Given the description of an element on the screen output the (x, y) to click on. 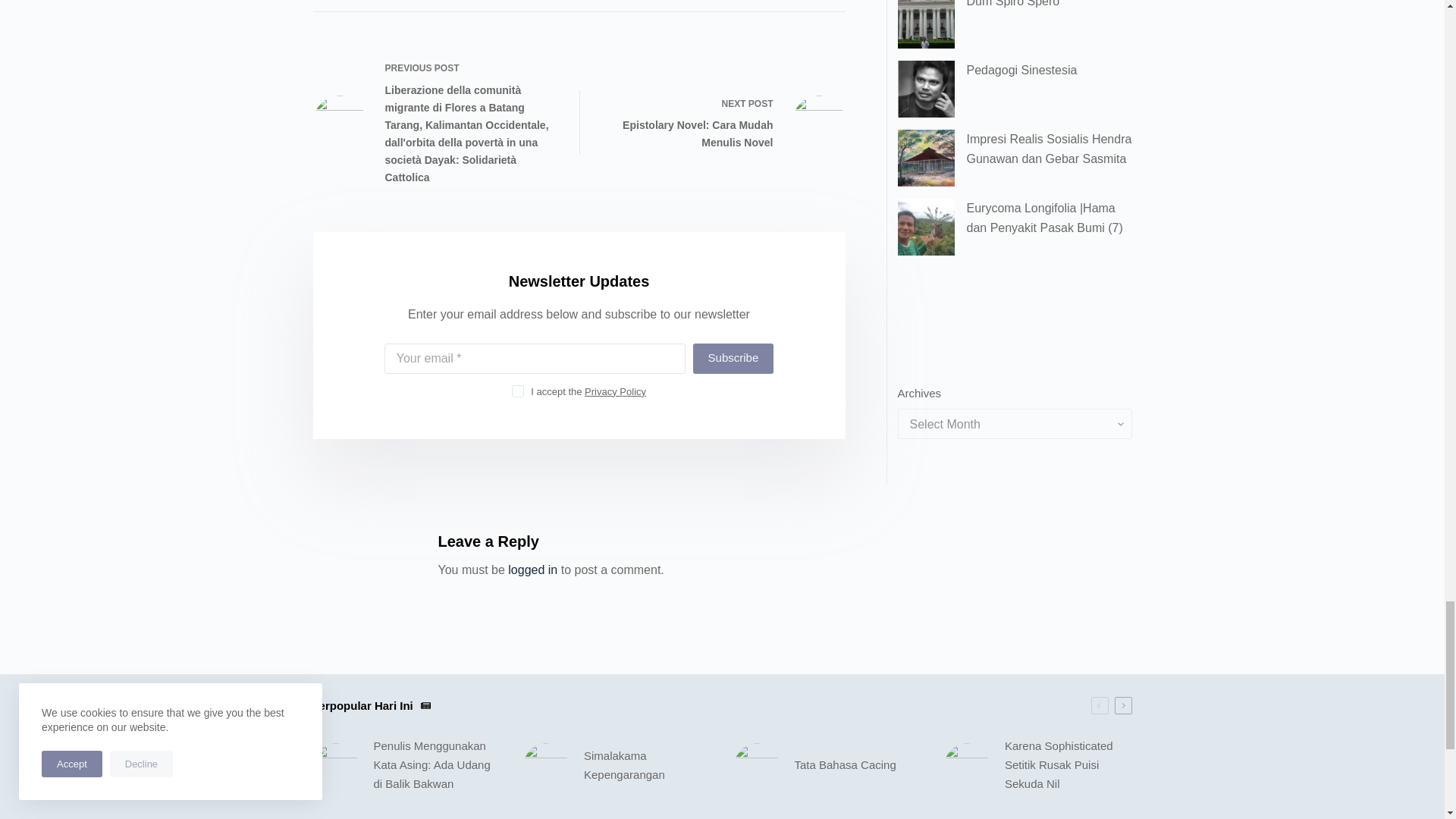
on (518, 390)
